Given the description of an element on the screen output the (x, y) to click on. 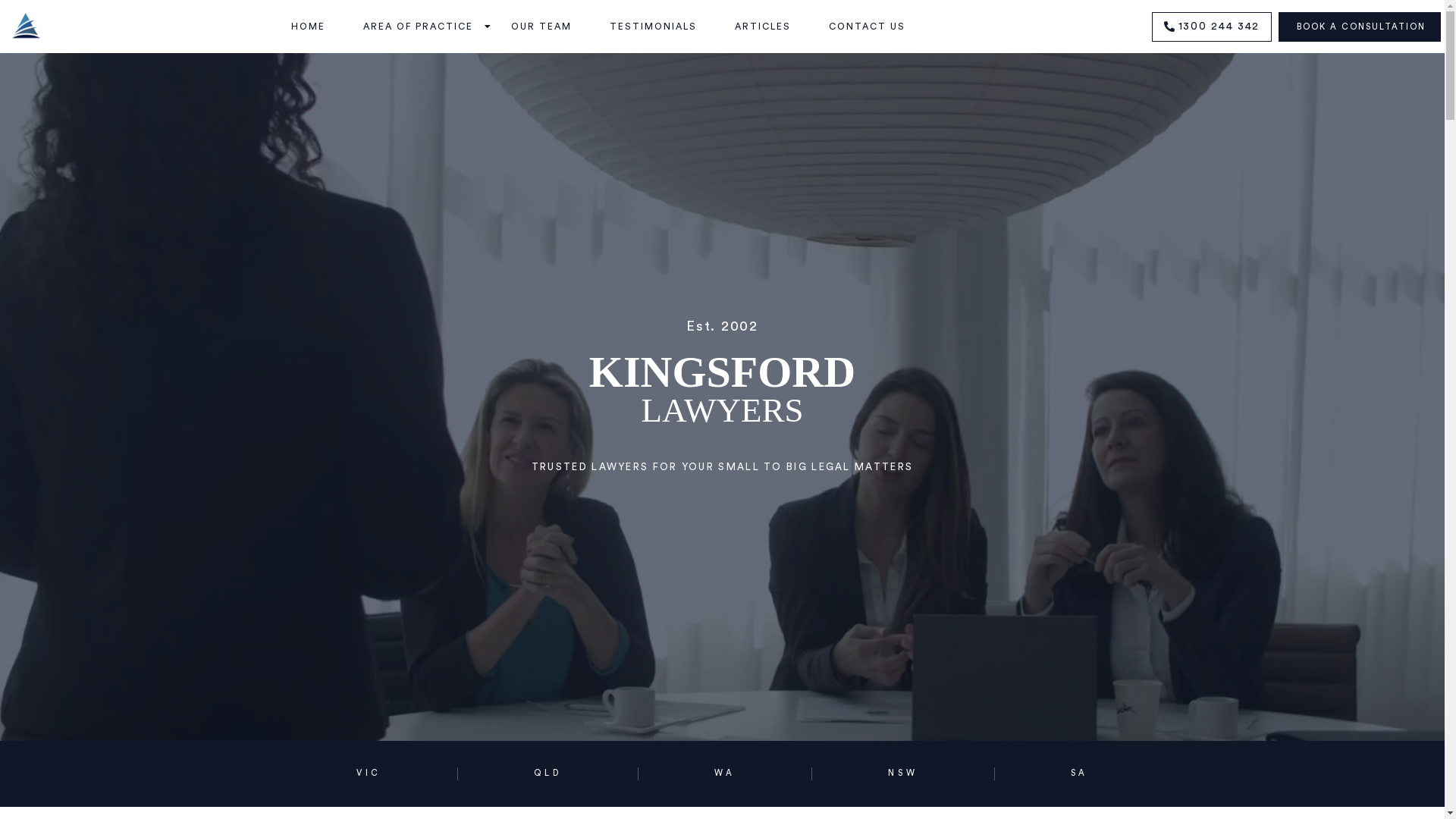
ARTICLES Element type: text (762, 26)
TESTIMONIALS Element type: text (652, 26)
BOOK A CONSULTATION Element type: text (1359, 26)
CONTACT US Element type: text (866, 26)
1300 244 342 Element type: text (1211, 26)
OUR TEAM Element type: text (541, 26)
HOME Element type: text (308, 26)
AREA OF PRACTICE Element type: text (418, 26)
